Given the description of an element on the screen output the (x, y) to click on. 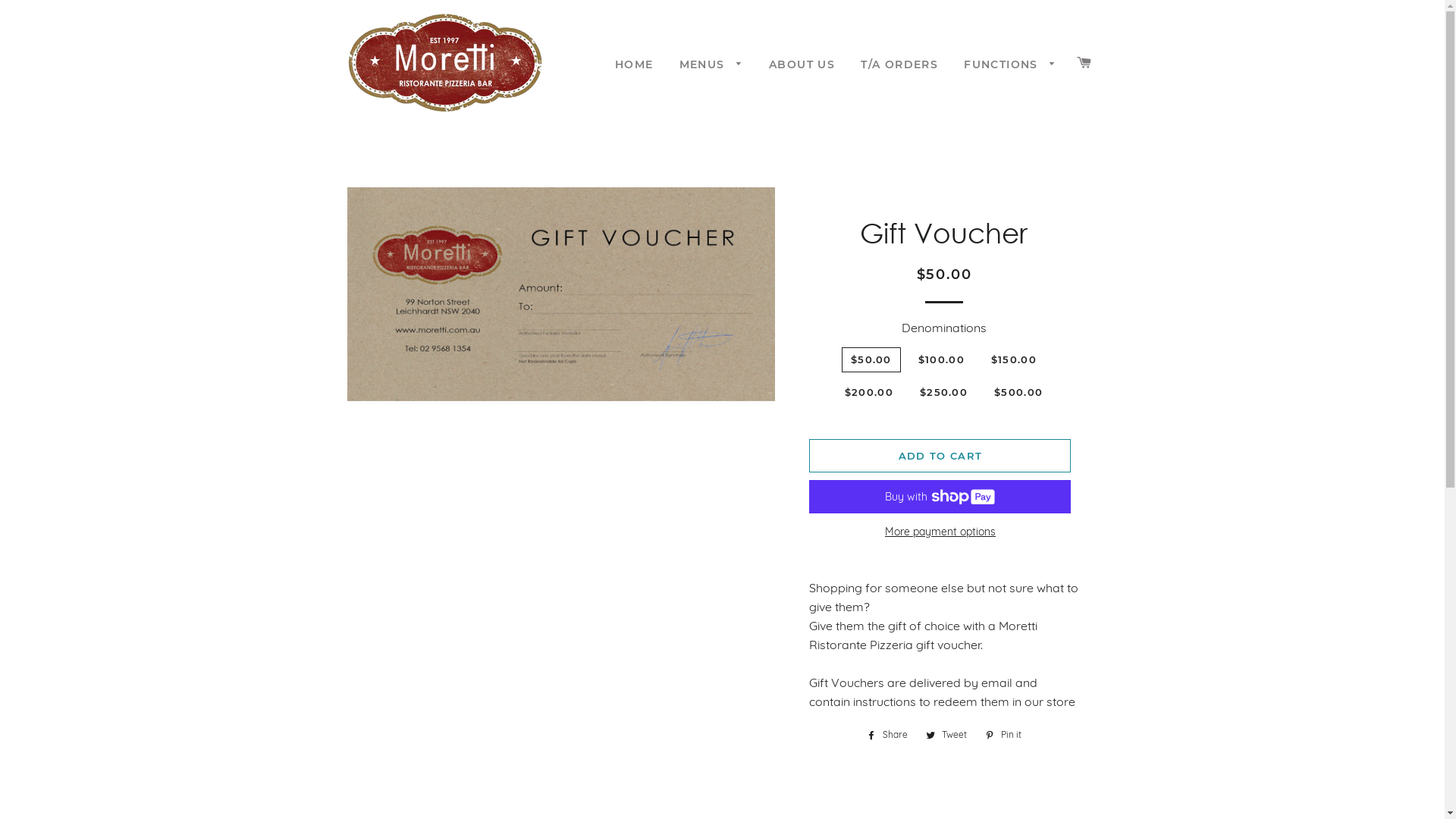
Tweet
Tweet on Twitter Element type: text (946, 734)
T/A ORDERS Element type: text (899, 64)
Share
Share on Facebook Element type: text (887, 734)
ADD TO CART Element type: text (939, 455)
More payment options Element type: text (939, 532)
HOME Element type: text (634, 64)
FUNCTIONS Element type: text (1009, 64)
MENUS Element type: text (711, 64)
CART Element type: text (1083, 62)
ABOUT US Element type: text (801, 64)
Pin it
Pin on Pinterest Element type: text (1003, 734)
